Given the description of an element on the screen output the (x, y) to click on. 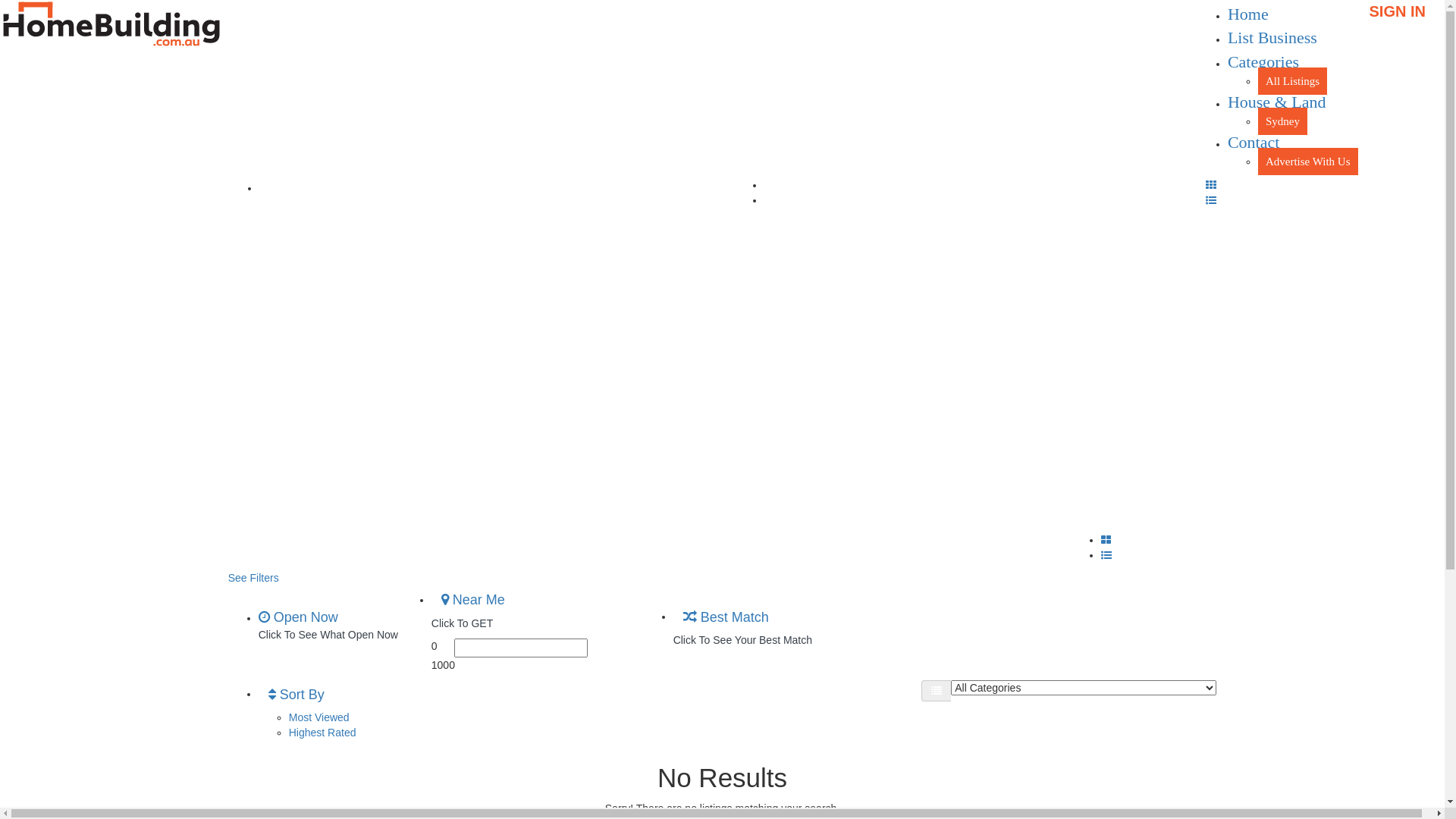
Near Me Element type: text (472, 600)
House & Land Element type: text (1276, 101)
Sydney Element type: text (1282, 120)
Advertise With Us Element type: text (1308, 161)
SIGN IN Element type: text (1397, 11)
Open Now Element type: text (298, 616)
Sort By Element type: text (296, 695)
Categories Element type: text (1263, 61)
Register Element type: text (618, 551)
Best Match Element type: text (725, 617)
All Listings Element type: text (1292, 80)
Get New Password Element type: text (645, 693)
See Filters Element type: text (253, 577)
Contact Element type: text (1253, 141)
Highest Rated Element type: text (322, 732)
Most Viewed Element type: text (318, 717)
List Business Element type: text (1272, 37)
Home Element type: text (276, 186)
Home Element type: text (1247, 13)
Sign in Element type: text (614, 283)
